Given the description of an element on the screen output the (x, y) to click on. 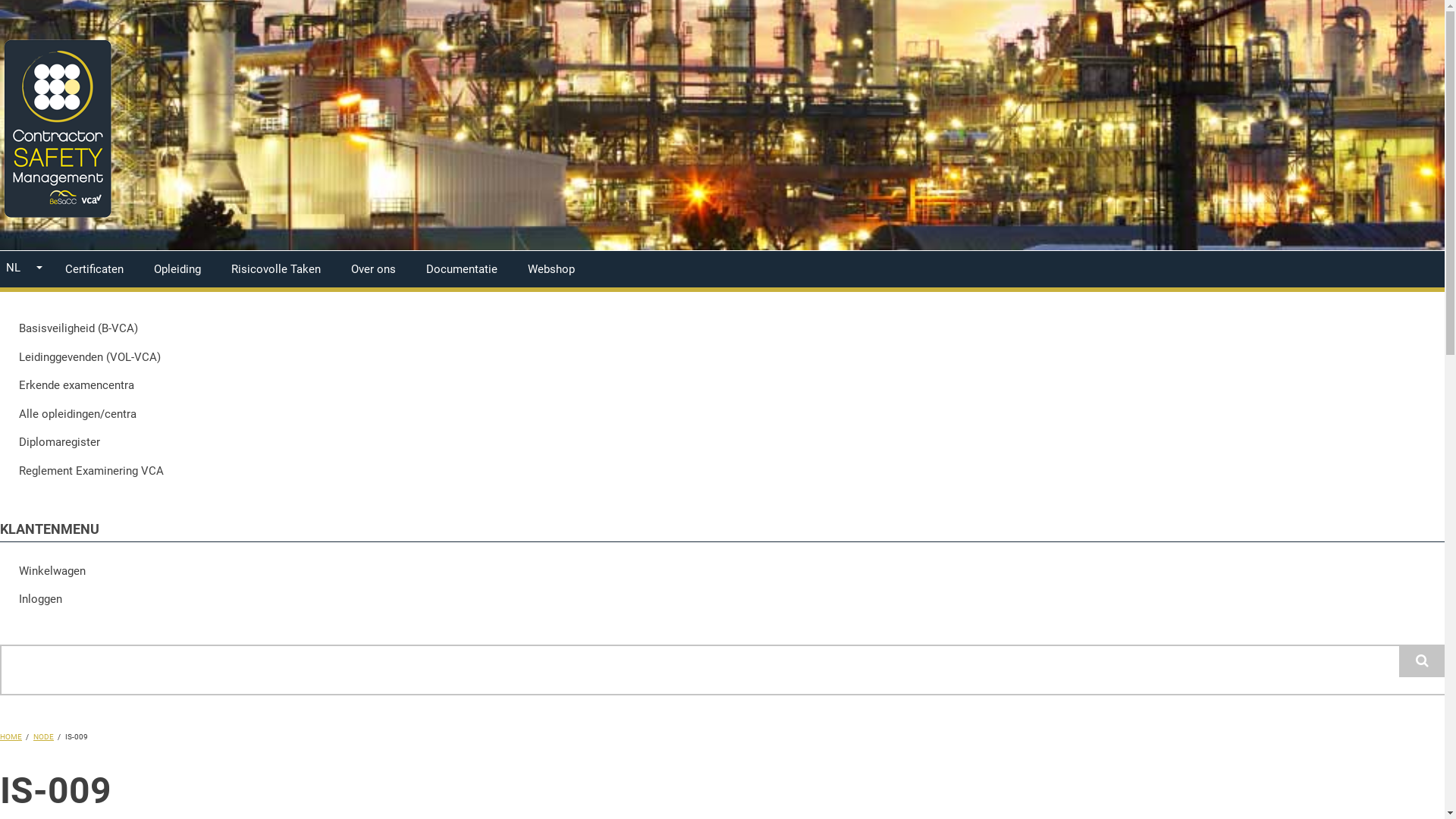
Leidinggevenden (VOL-VCA) Element type: text (722, 357)
Reglement Examinering VCA Element type: text (722, 471)
Alle opleidingen/centra Element type: text (722, 414)
Diplomaregister Element type: text (722, 442)
Risicovolle Taken Element type: text (275, 269)
NODE Element type: text (43, 736)
Webshop Element type: text (551, 269)
HOME Element type: text (10, 736)
Documentatie Element type: text (461, 269)
Certificaten Element type: text (94, 269)
Search Element type: text (1421, 660)
Opleiding Element type: text (177, 269)
Skip to main content Element type: text (0, 0)
Inloggen Element type: text (722, 599)
Over ons Element type: text (373, 269)
Erkende examencentra Element type: text (722, 385)
Basisveiligheid (B-VCA) Element type: text (722, 328)
Winkelwagen Element type: text (722, 571)
Home Element type: hover (56, 218)
